Given the description of an element on the screen output the (x, y) to click on. 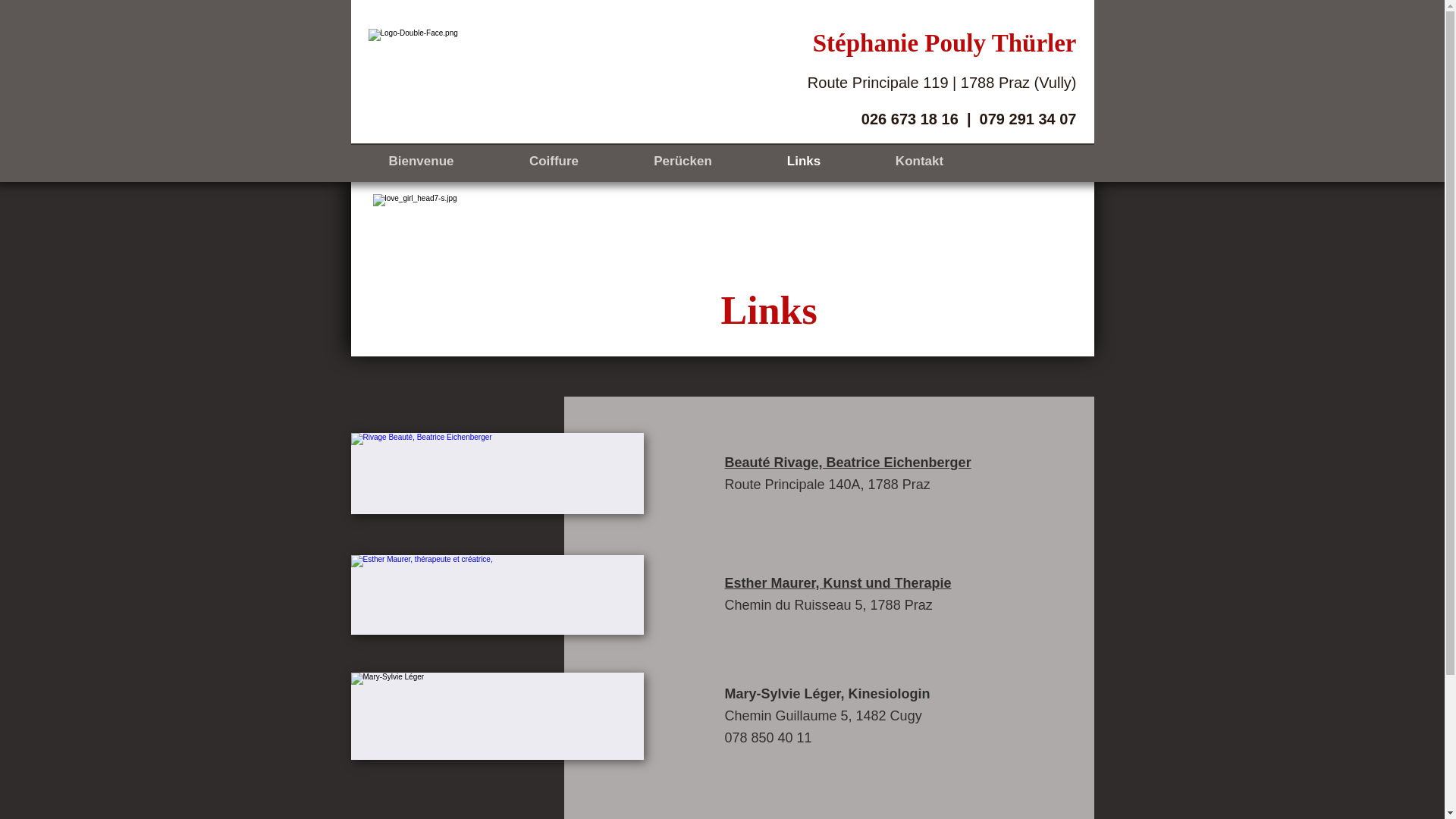
Kontakt Element type: text (919, 160)
Bienvenue Element type: text (420, 160)
Links Element type: text (803, 160)
Esther Maurer, K Element type: text (778, 582)
Coiffure Element type: text (553, 160)
